Given the description of an element on the screen output the (x, y) to click on. 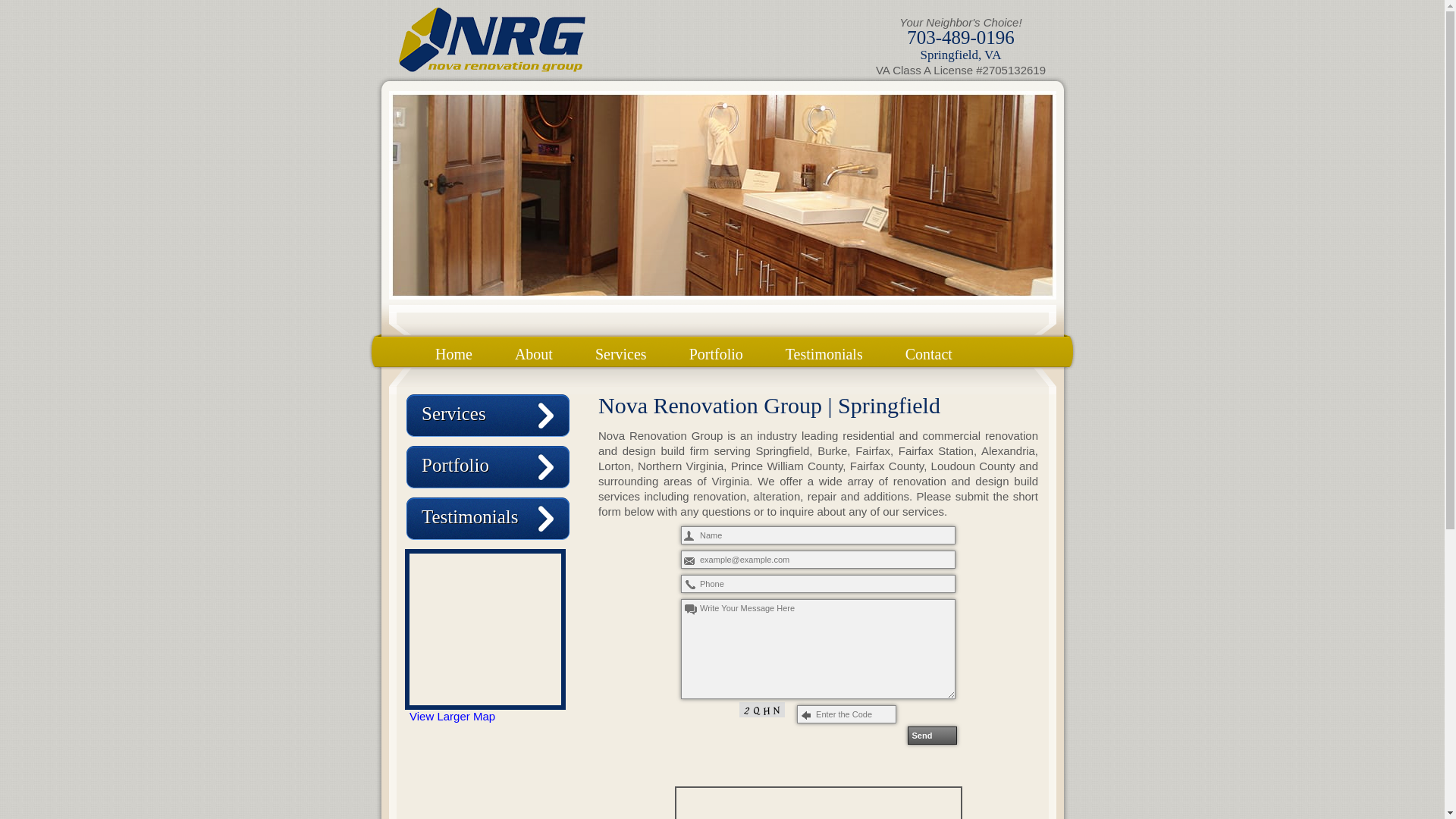
Contact (928, 349)
Portfolio (716, 349)
Services (454, 413)
About (533, 349)
Testimonials (470, 516)
Services (620, 349)
Send (931, 735)
Testimonials (823, 349)
Send (931, 735)
Home (453, 349)
View Larger Map (452, 716)
Portfolio (455, 465)
703-489-0196 (960, 37)
